Given the description of an element on the screen output the (x, y) to click on. 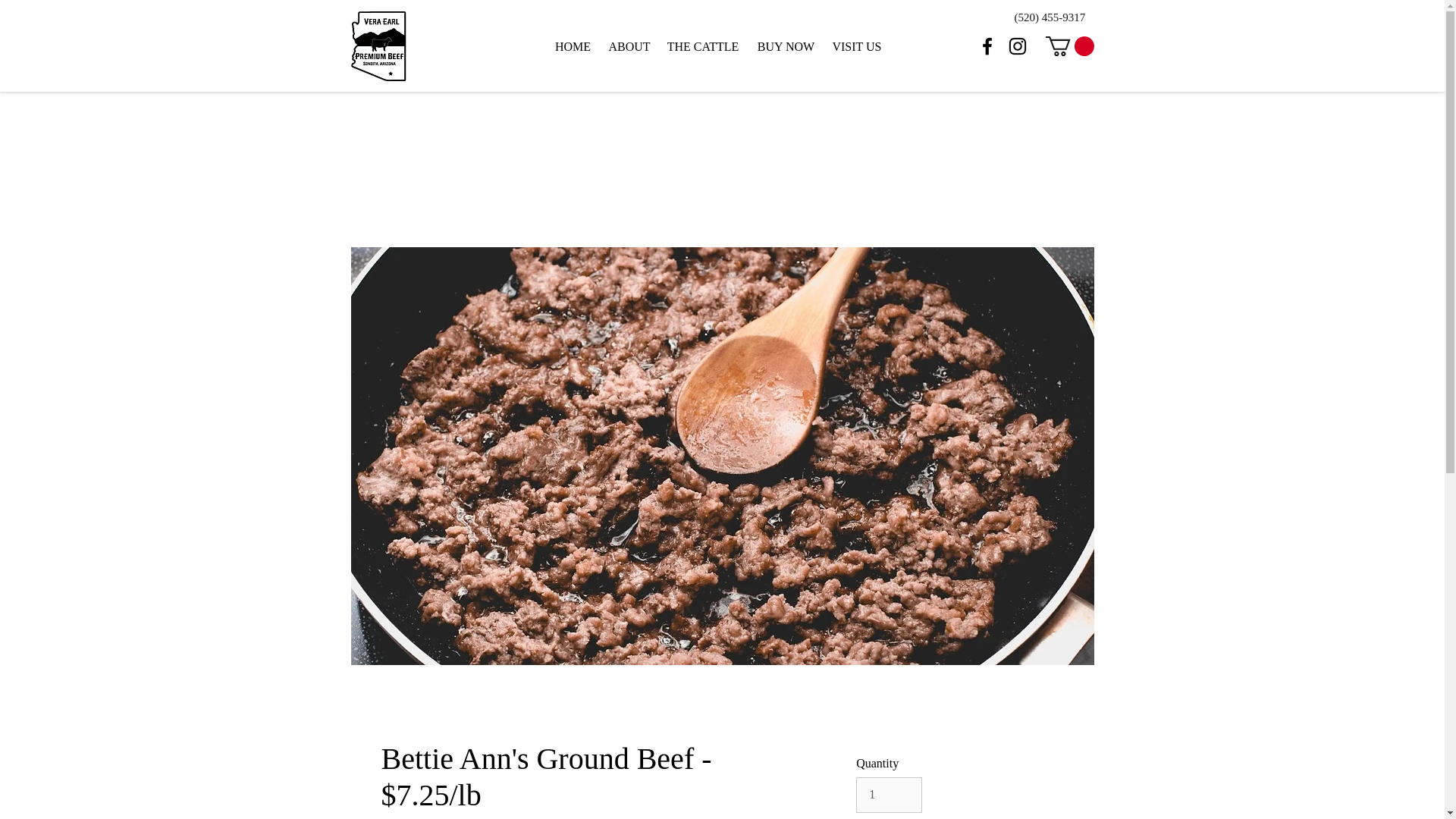
1 (888, 794)
ABOUT (628, 46)
VISIT US (856, 46)
THE CATTLE (703, 46)
HOME (571, 46)
BUY NOW (786, 46)
